Given the description of an element on the screen output the (x, y) to click on. 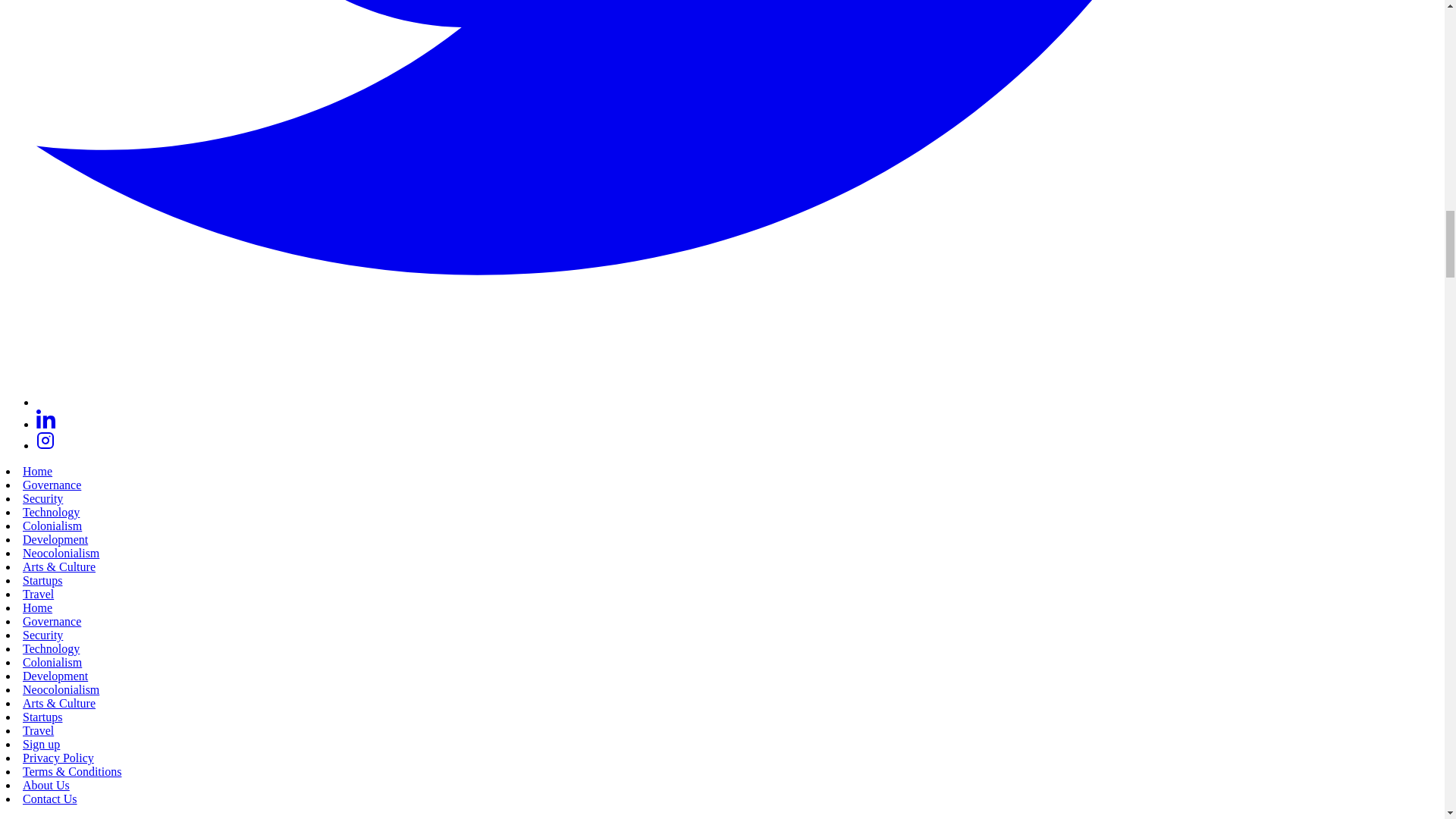
Travel (38, 594)
Startups (42, 716)
Contact Us (50, 798)
Security (42, 498)
Development (55, 675)
About Us (46, 784)
Technology (51, 648)
Privacy Policy (58, 757)
Colonialism (52, 525)
Neocolonialism (61, 553)
Startups (42, 580)
Colonialism (52, 662)
Sign up (41, 744)
Travel (38, 730)
Neocolonialism (61, 689)
